Given the description of an element on the screen output the (x, y) to click on. 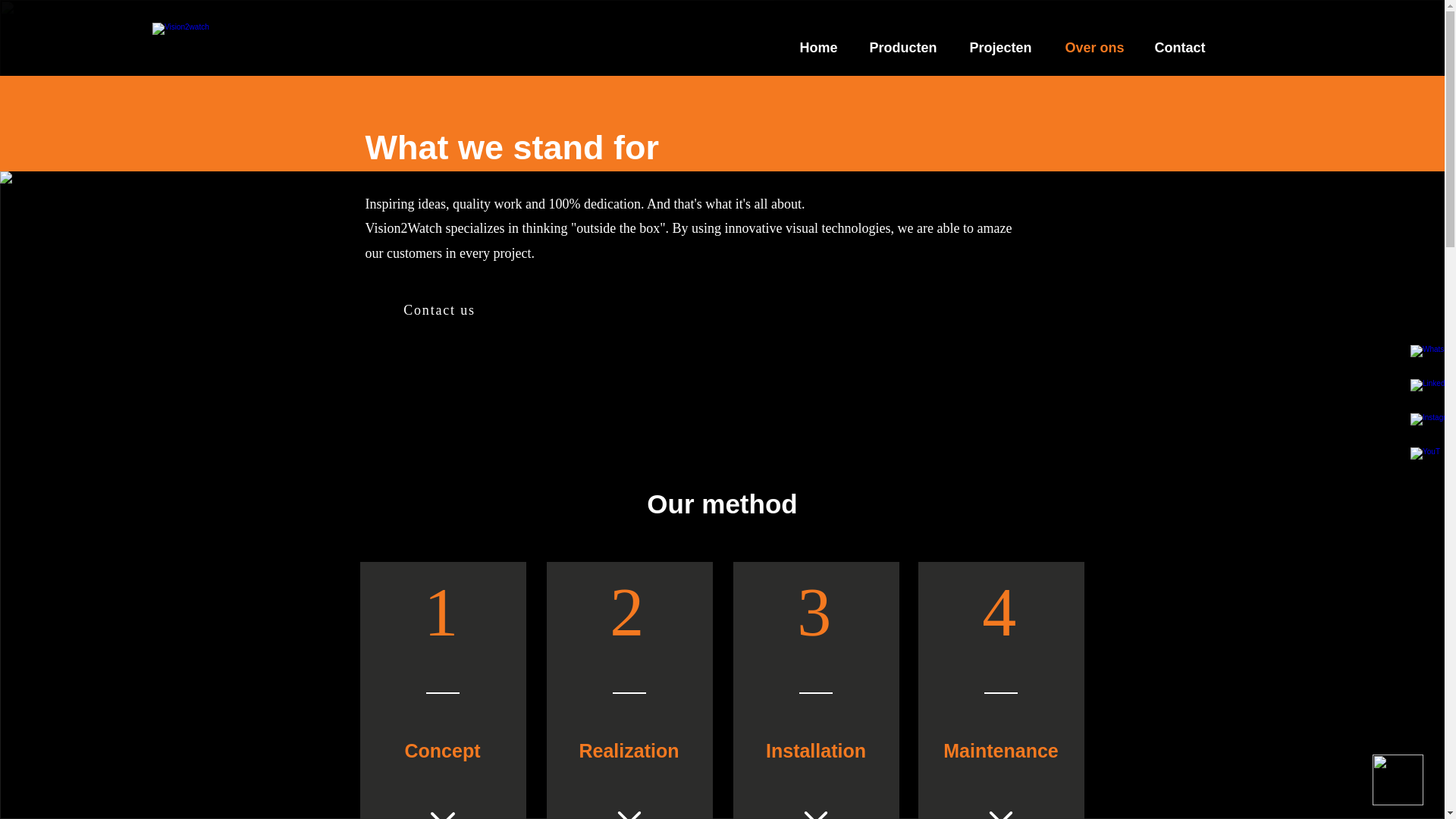
Home (825, 47)
Homepage Vision2Watch Audivisueel (290, 37)
Projecten (1007, 47)
Contact (1185, 47)
Producten (909, 47)
Contact us (440, 310)
Over ons (1099, 47)
